Given the description of an element on the screen output the (x, y) to click on. 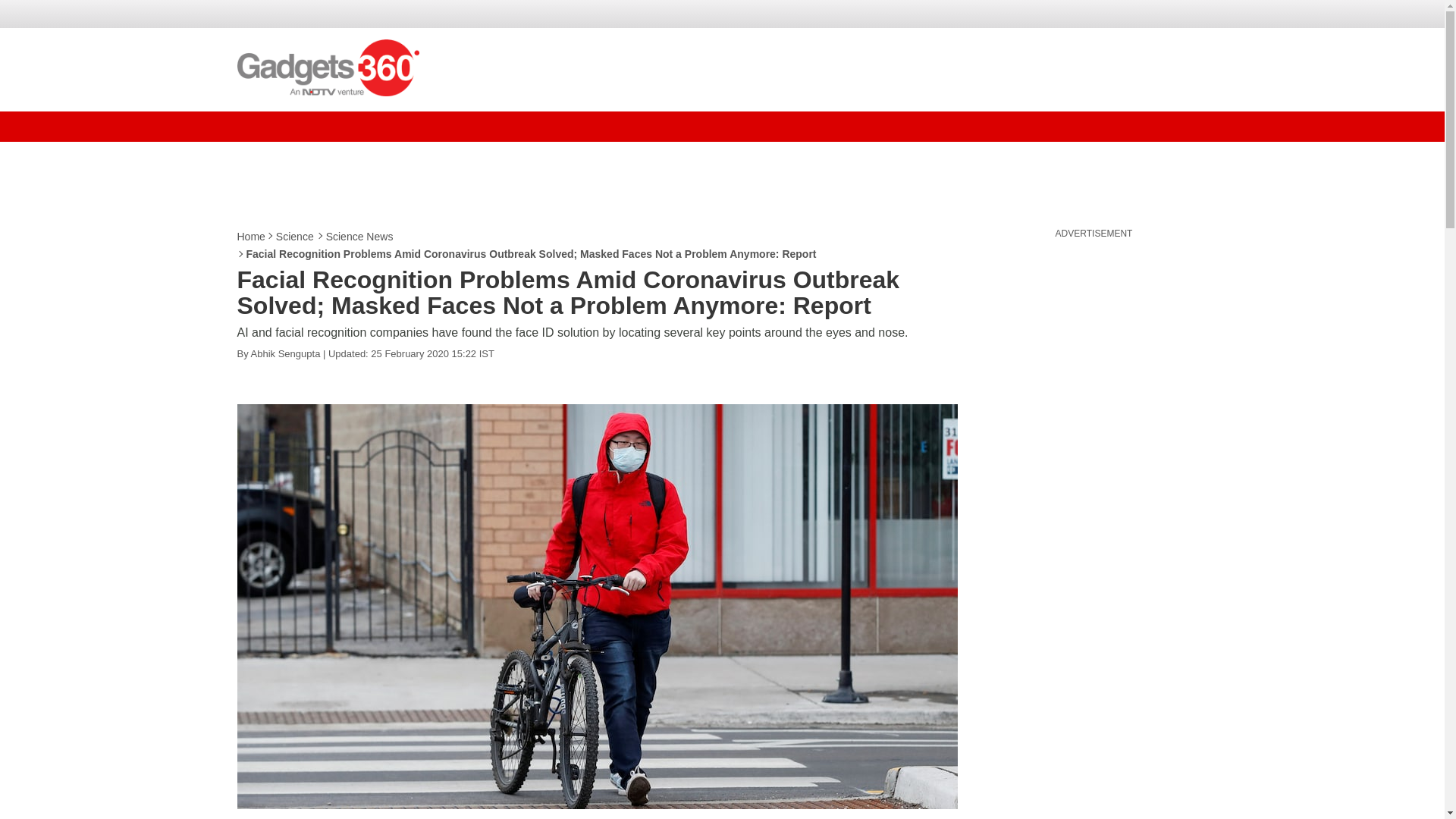
Science (295, 236)
Home (250, 236)
Home (250, 236)
Science News (360, 236)
Science (295, 236)
Gadgets 360 (327, 67)
Science News (360, 236)
